Given the description of an element on the screen output the (x, y) to click on. 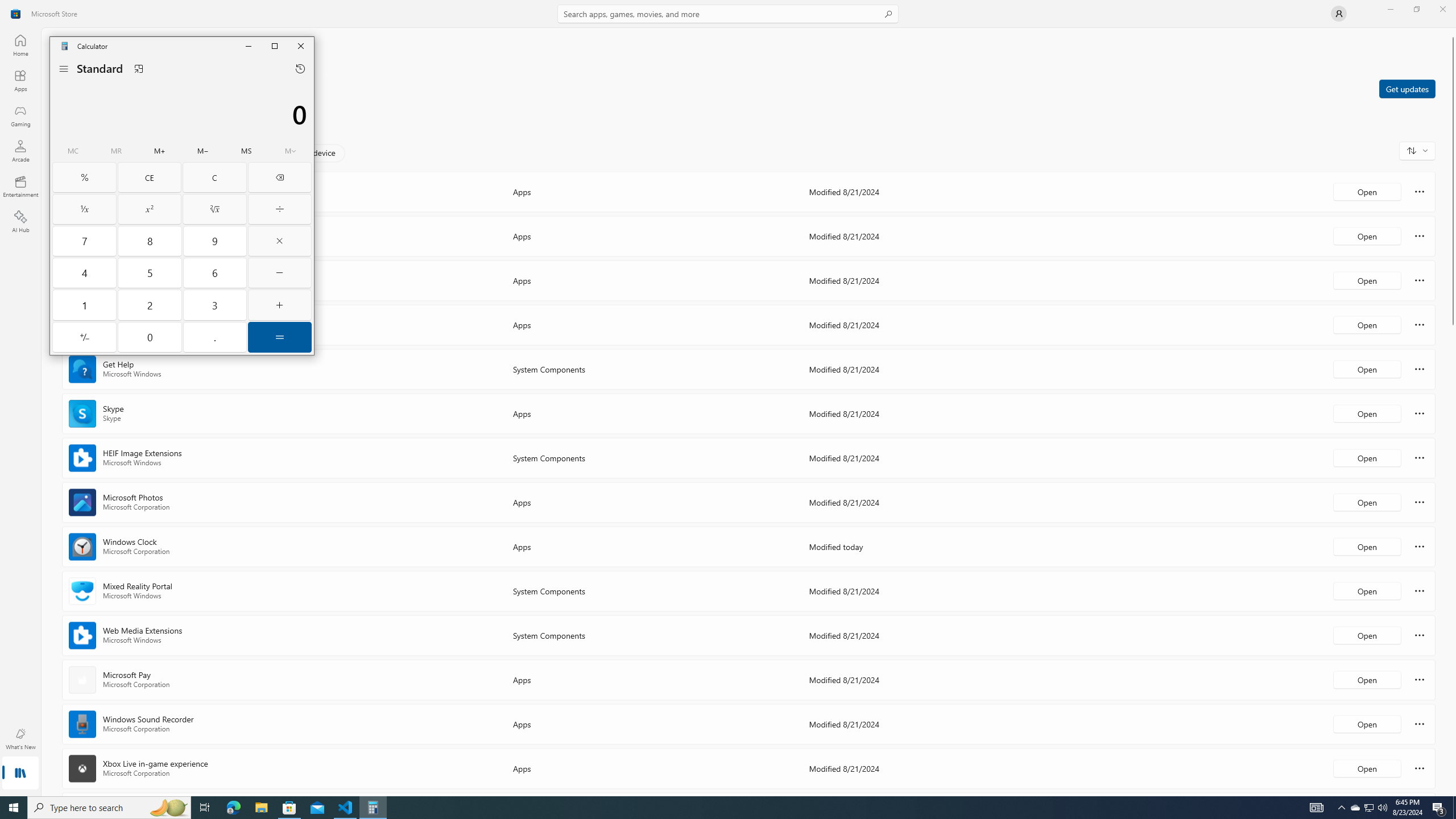
Action Center, 3 new notifications (1439, 807)
Restore Microsoft Store (1416, 9)
Decimal separator (215, 336)
Open Navigation (63, 68)
Divide by (279, 209)
Memory store (246, 151)
Get updates (1406, 88)
Backspace (279, 177)
Zero (149, 336)
User Promoted Notification Area (1368, 807)
Microsoft Store - 1 running window (289, 807)
Vertical Small Decrease (1452, 31)
AutomationID: 4105 (1316, 807)
Multiply by (279, 241)
